Given the description of an element on the screen output the (x, y) to click on. 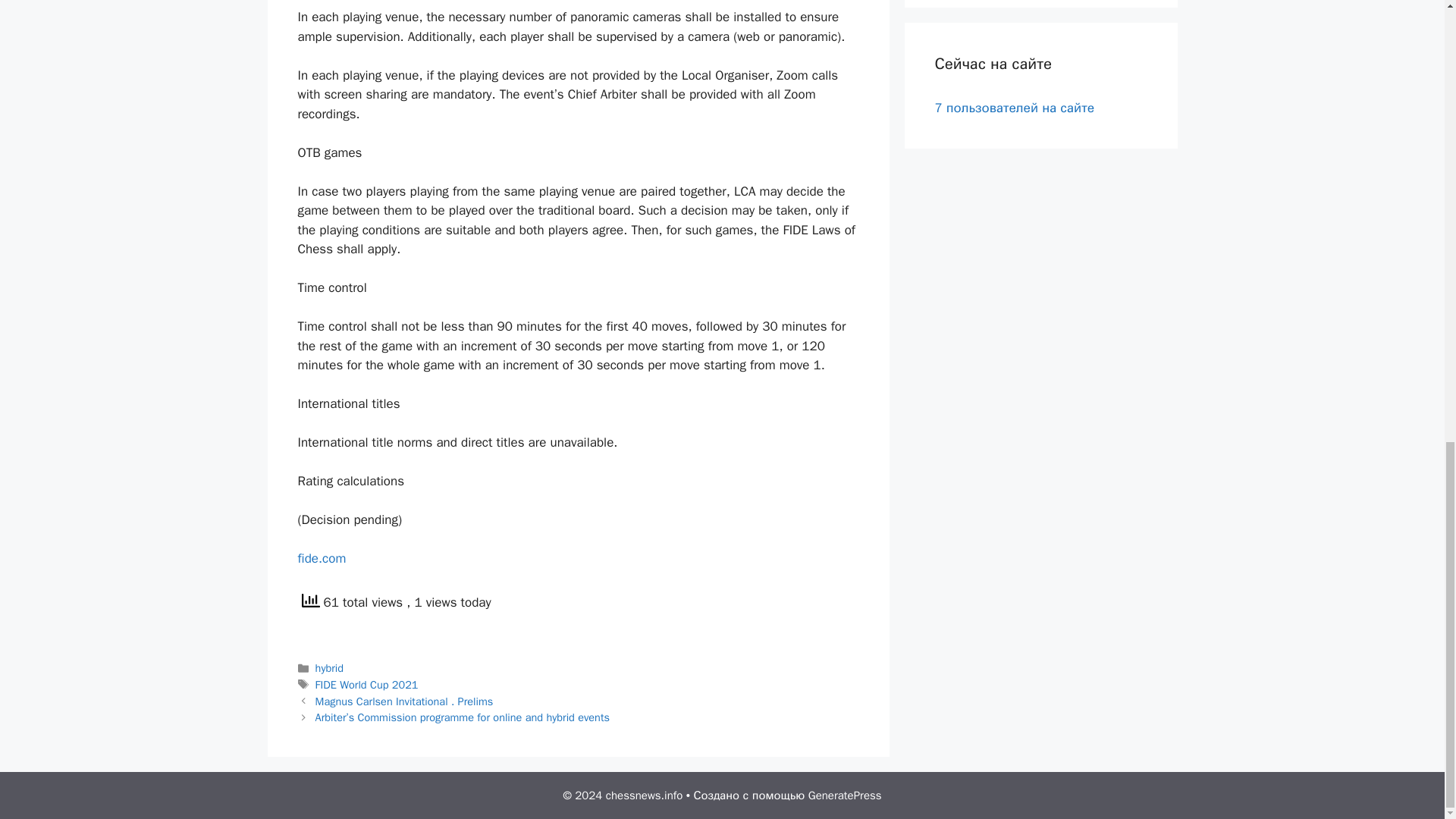
GeneratePress (845, 795)
Magnus Carlsen Invitational . Prelims (404, 701)
FIDE World Cup 2021 (367, 684)
hybrid (329, 667)
fide.com (321, 558)
